Given the description of an element on the screen output the (x, y) to click on. 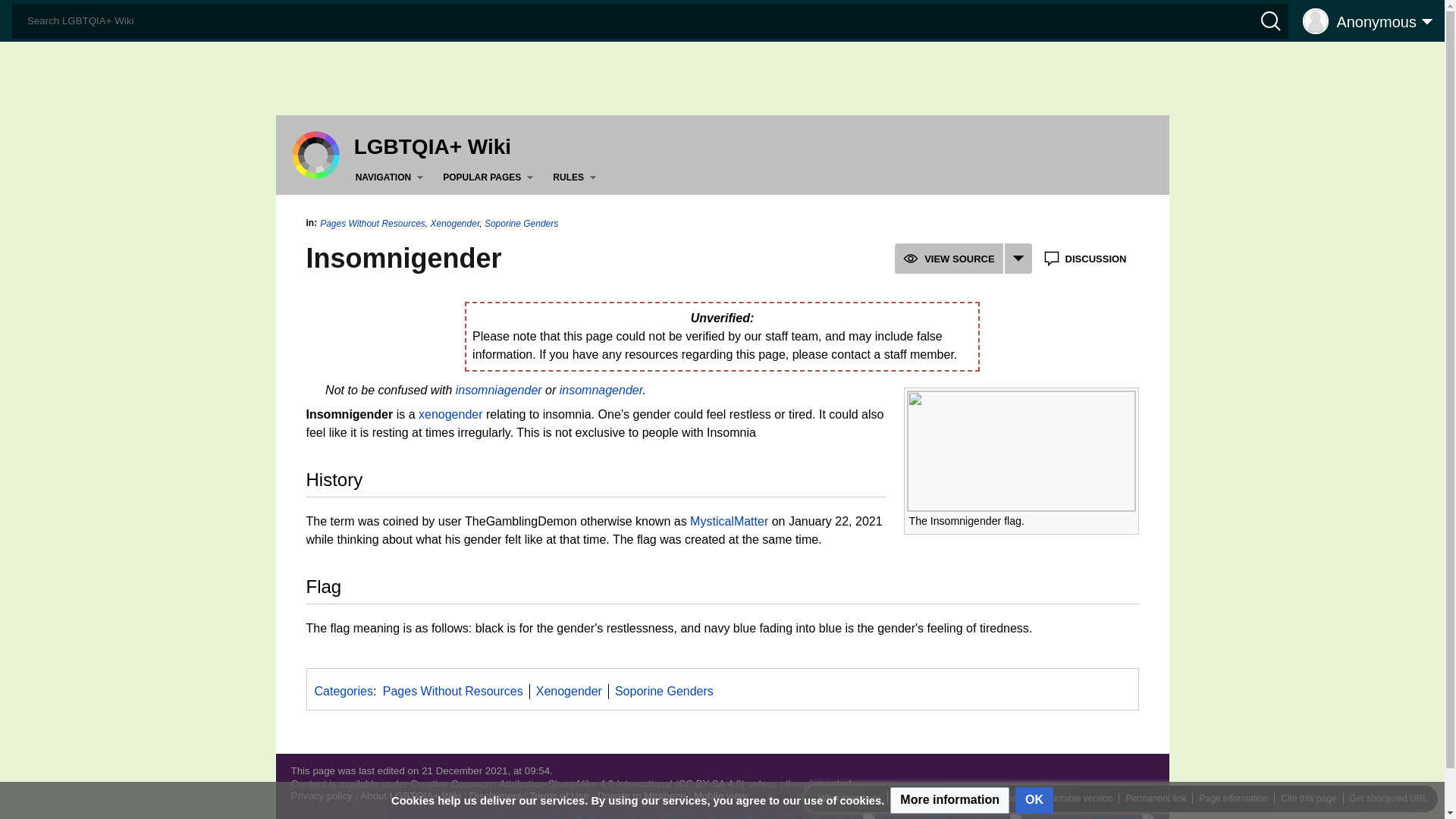
Category:Pages Without Resources (452, 690)
Xenogender (451, 413)
POPULAR PAGES (490, 177)
Special:Categories (343, 690)
User:MysticalMatter (729, 521)
Insomniagender (498, 390)
NAVIGATION (392, 177)
Visit the main page (315, 154)
Insomnagender (601, 390)
Go (16, 13)
